Given the description of an element on the screen output the (x, y) to click on. 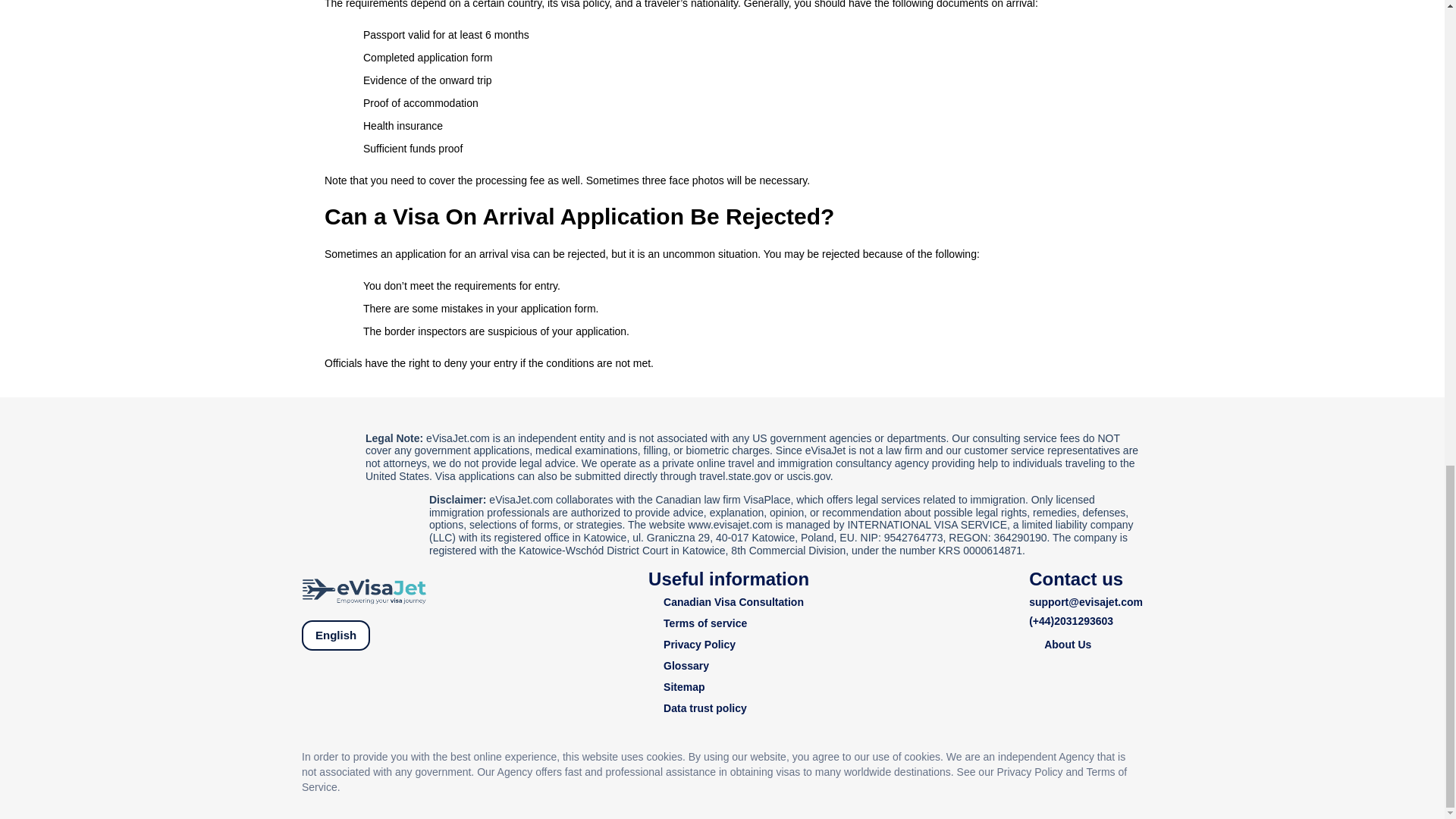
Sitemap (728, 686)
Canadian Visa Consultation (728, 602)
Data trust policy (728, 707)
Privacy Policy (728, 644)
Glossary (728, 666)
Terms of service (728, 623)
